Given the description of an element on the screen output the (x, y) to click on. 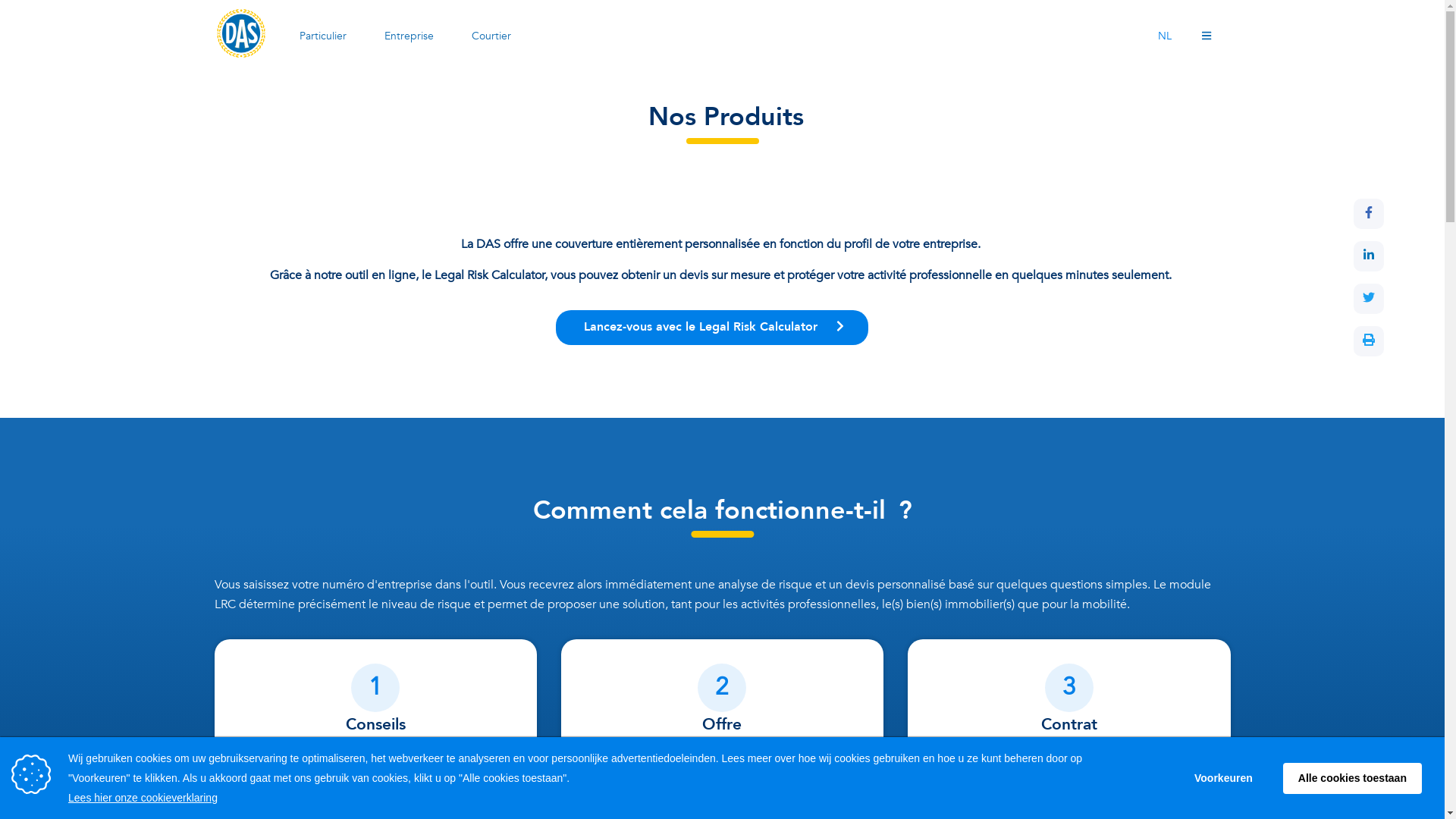
Legal Risk Calculator Element type: text (709, 761)
Legal Risk Calculator Element type: text (1074, 770)
Le Legal Risk Calculator Element type: text (301, 790)
 Lancez-vous avec le Legal Risk Calculator  Element type: text (711, 327)
NL Element type: text (1164, 35)
